Given the description of an element on the screen output the (x, y) to click on. 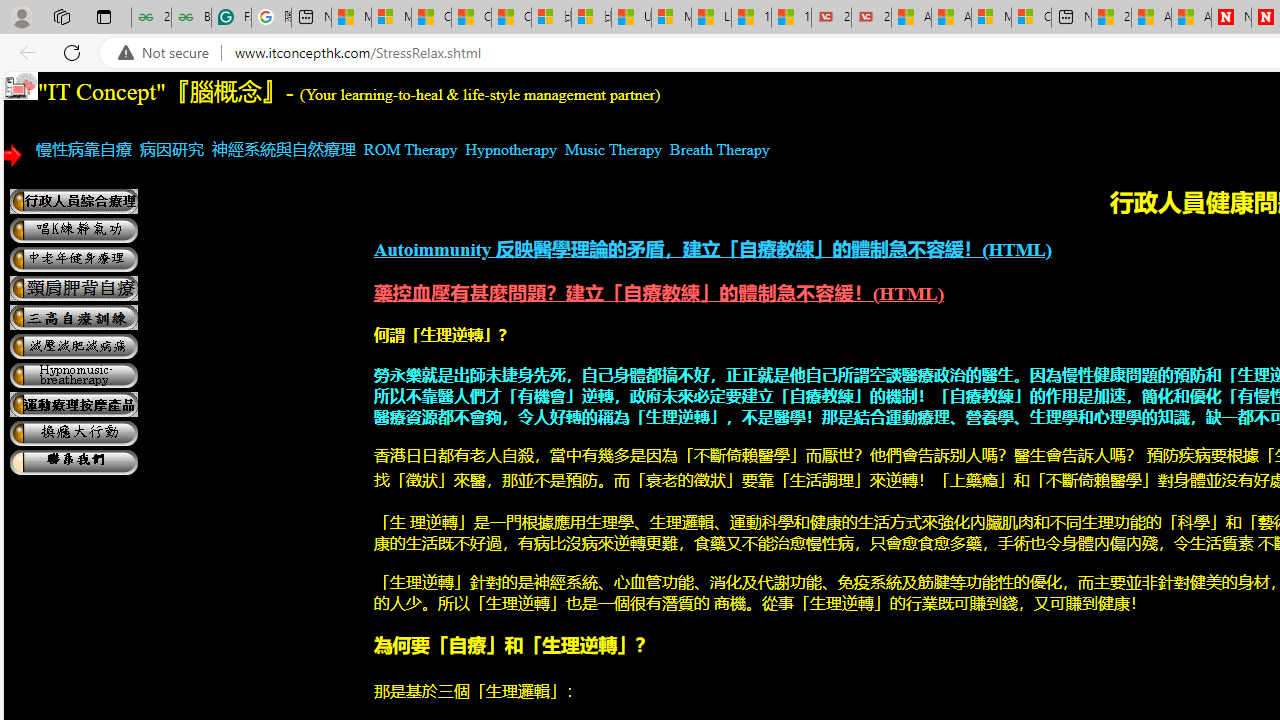
21 Movies That Outdid the Books They Were Based On (871, 17)
25 Basic Linux Commands For Beginners - GeeksforGeeks (151, 17)
Not secure (168, 53)
Music Therapy (613, 149)
Newsweek - News, Analysis, Politics, Business, Technology (1231, 17)
